Given the description of an element on the screen output the (x, y) to click on. 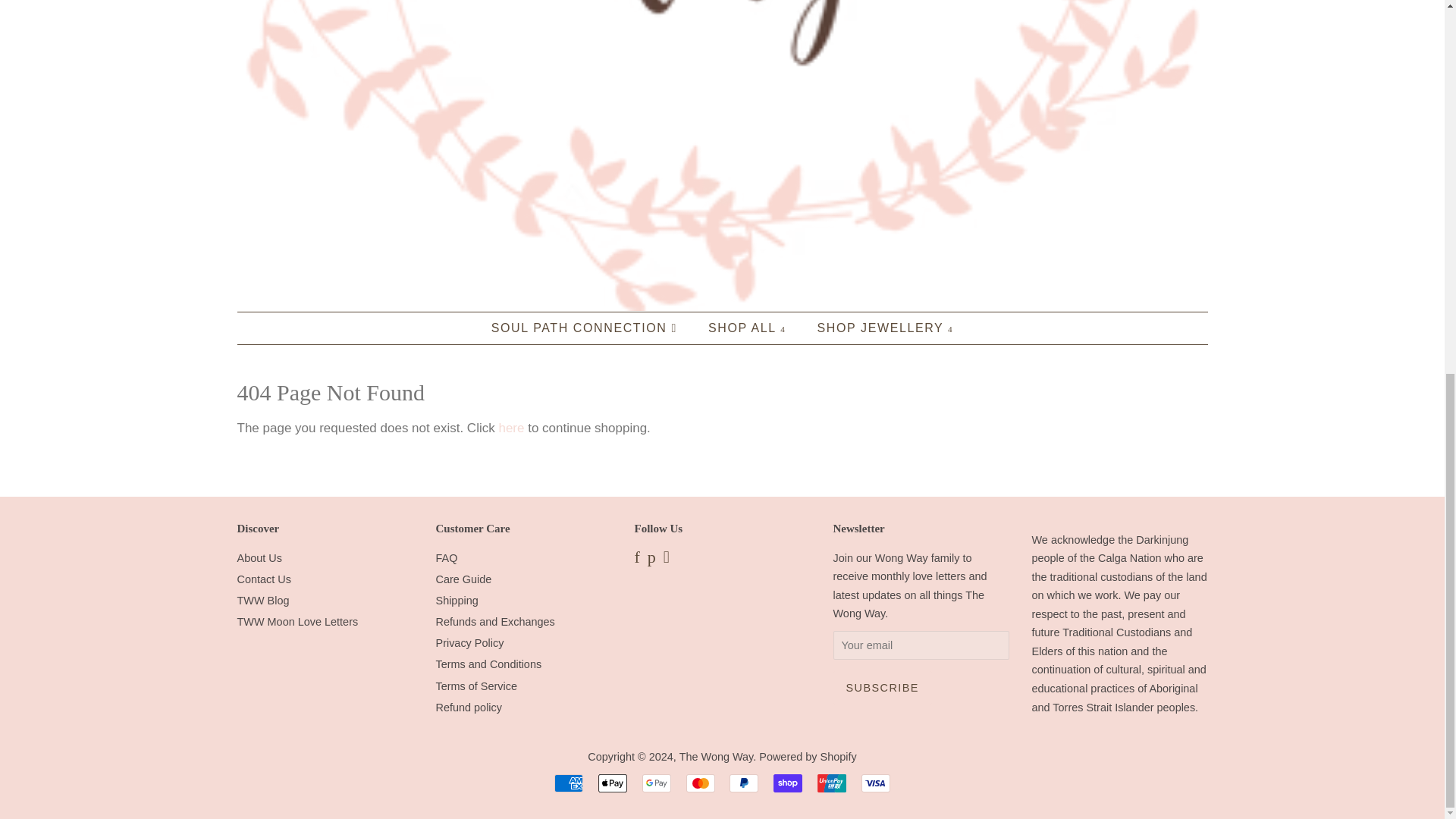
American Express (568, 782)
Shop Pay (787, 782)
Visa (875, 782)
SHOP ALL (749, 327)
Apple Pay (612, 782)
Subscribe (881, 687)
Union Pay (830, 782)
PayPal (743, 782)
Google Pay (656, 782)
Mastercard (699, 782)
